Given the description of an element on the screen output the (x, y) to click on. 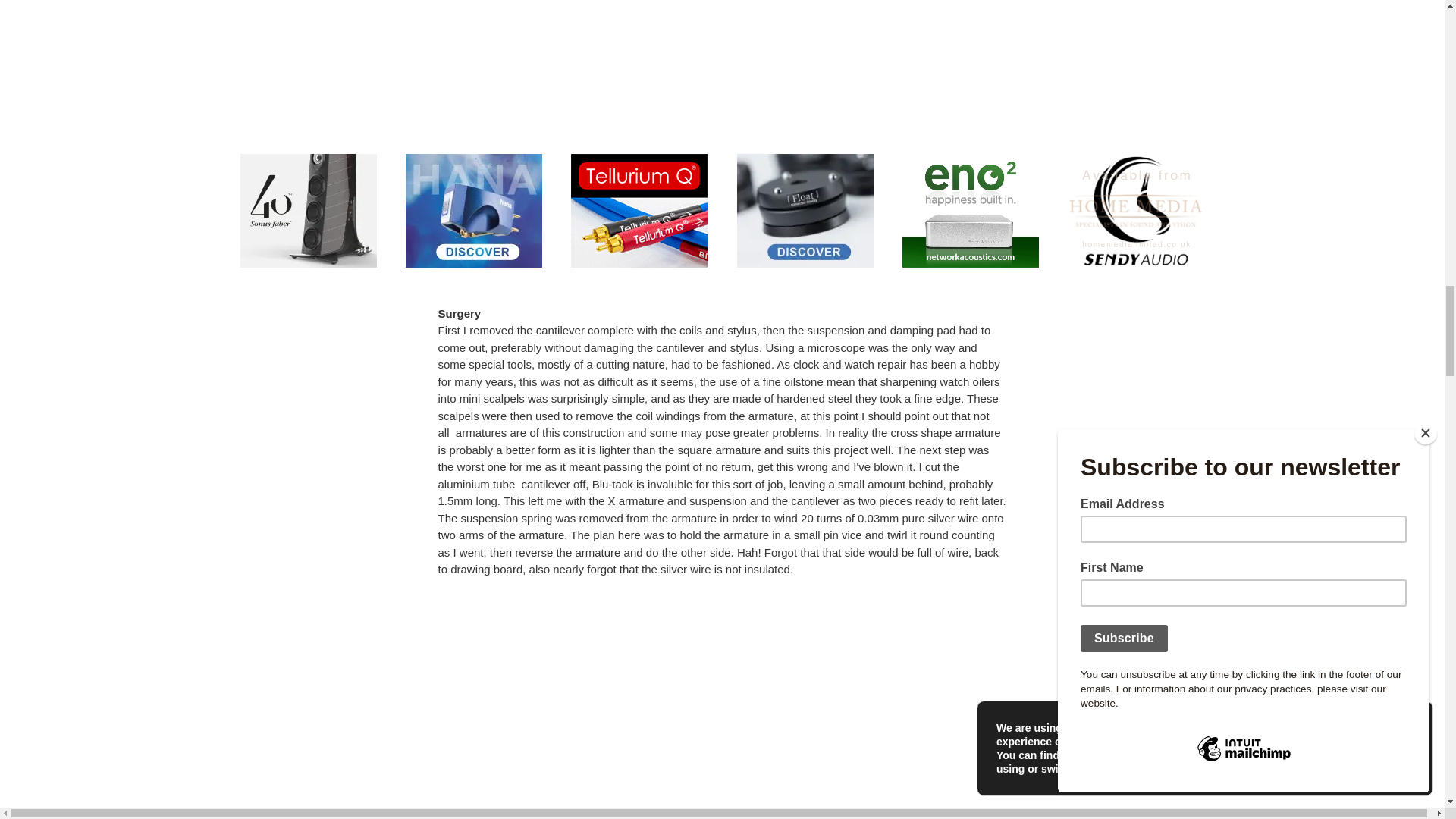
Making a mono MC cartridge 4 (722, 706)
Making a mono MC cartridge 3 (722, 41)
